Given the description of an element on the screen output the (x, y) to click on. 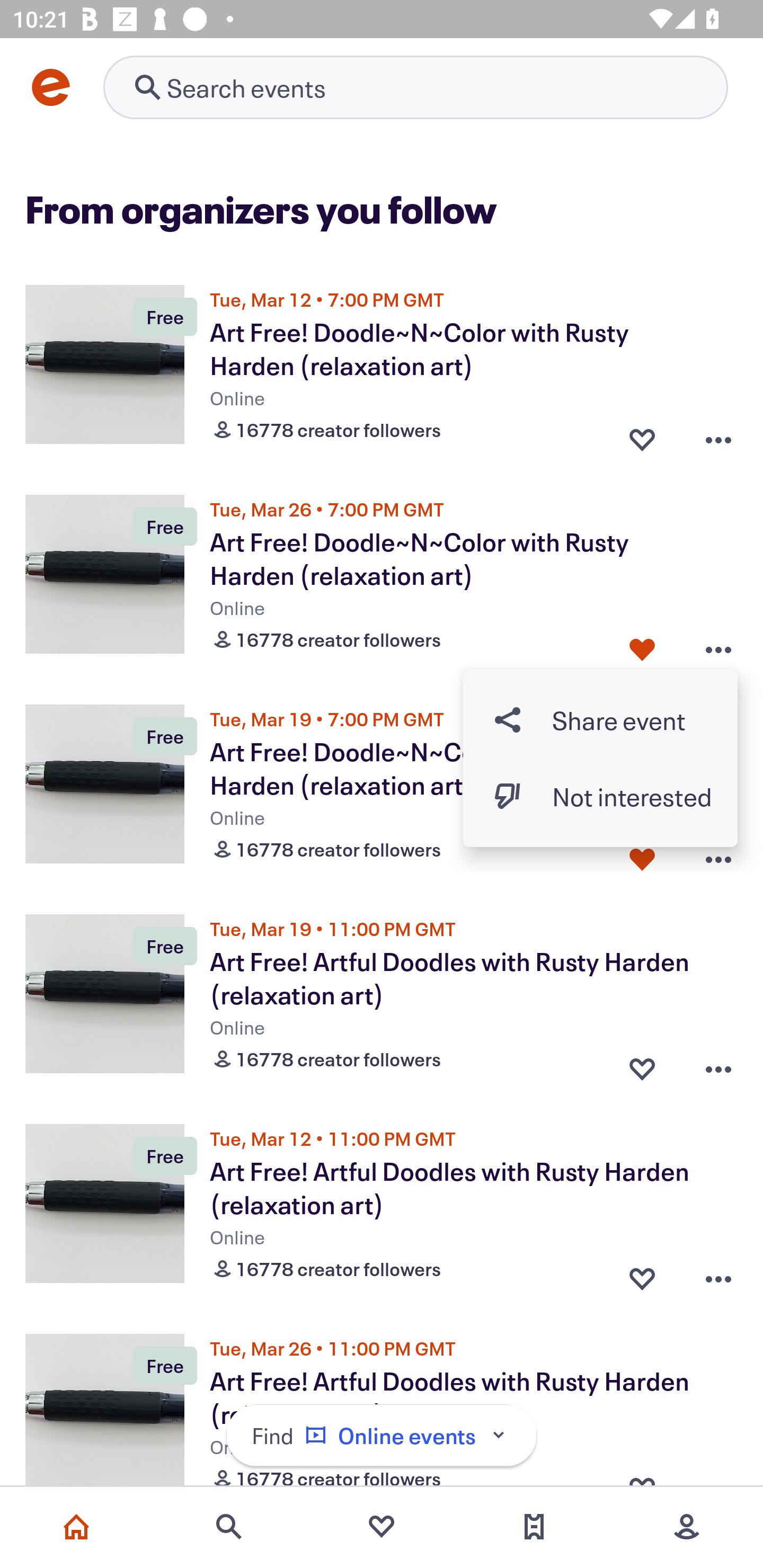
Share button Share event (600, 719)
Dislike event button Not interested (600, 795)
